Given the description of an element on the screen output the (x, y) to click on. 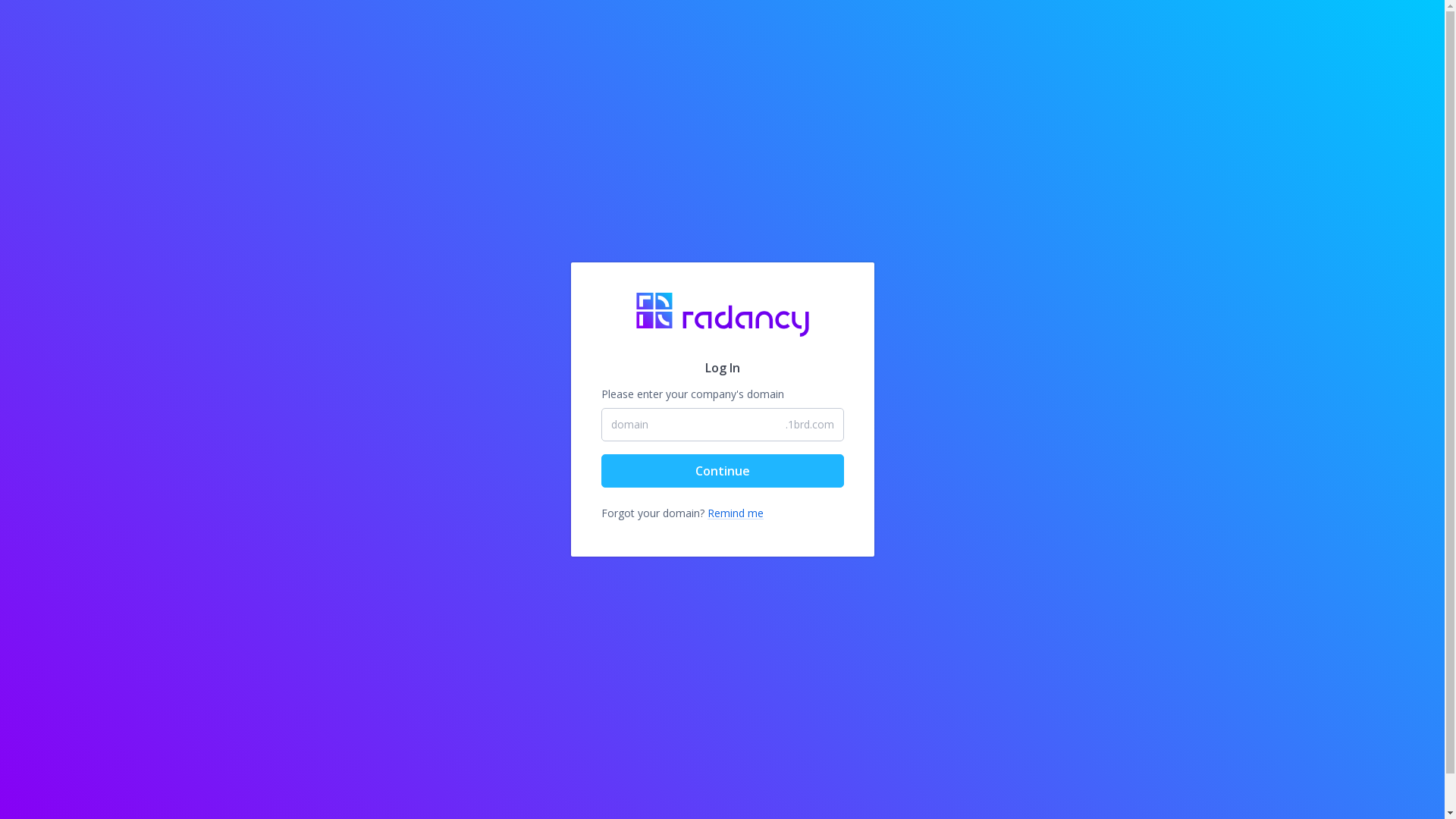
Continue Element type: text (721, 470)
Remind me Element type: text (734, 512)
